Given the description of an element on the screen output the (x, y) to click on. 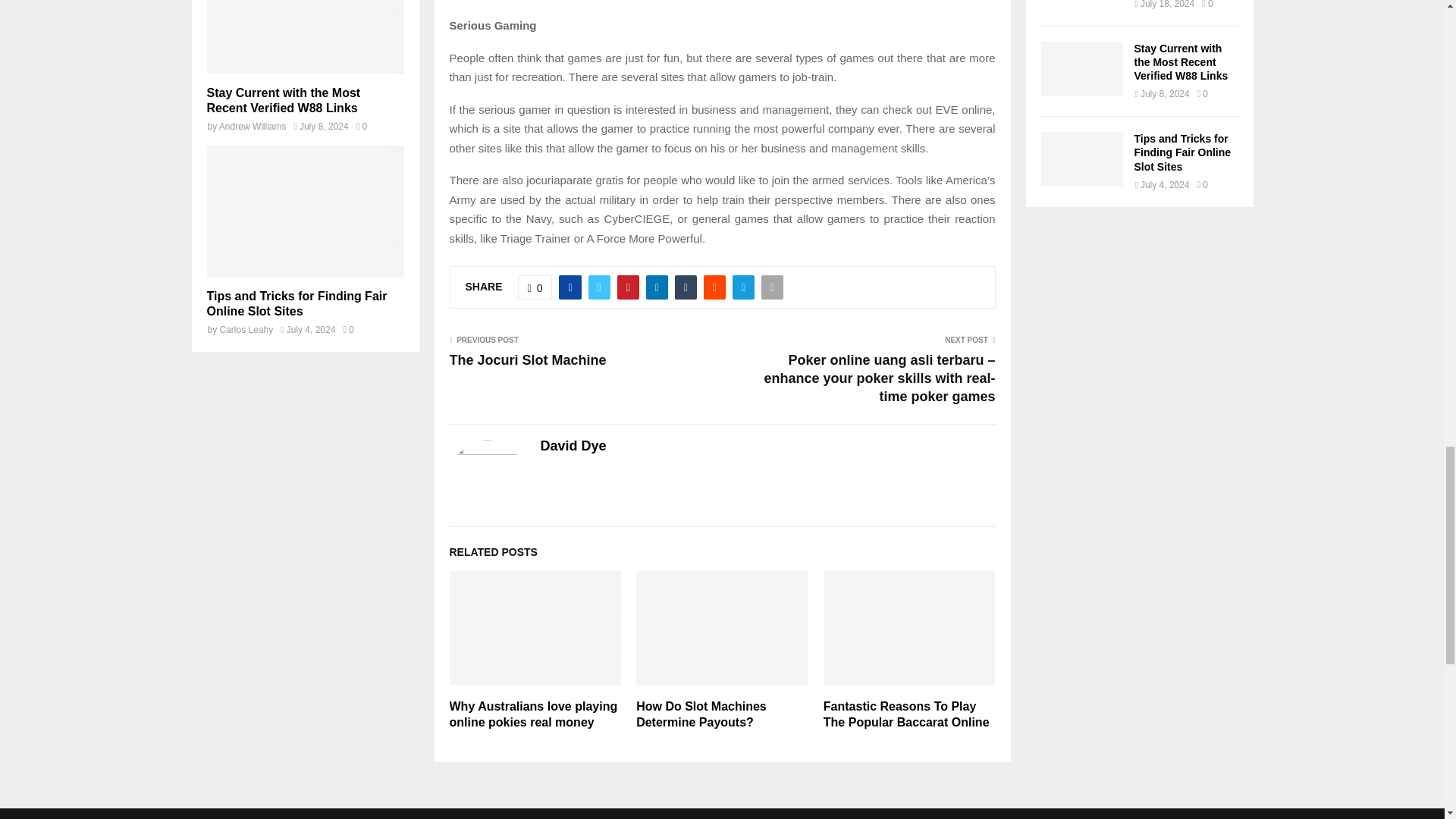
Like (535, 287)
